Given the description of an element on the screen output the (x, y) to click on. 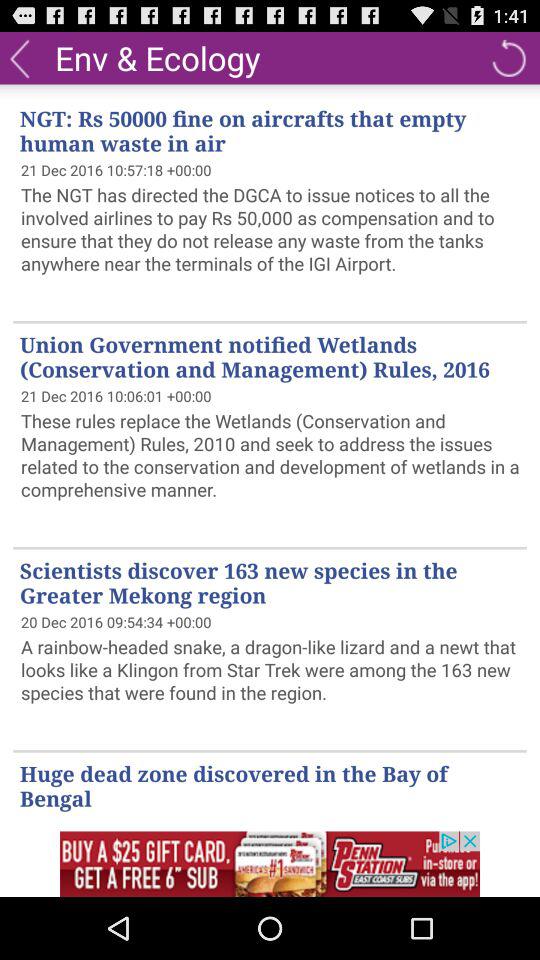
go back to the previous page (19, 57)
